Given the description of an element on the screen output the (x, y) to click on. 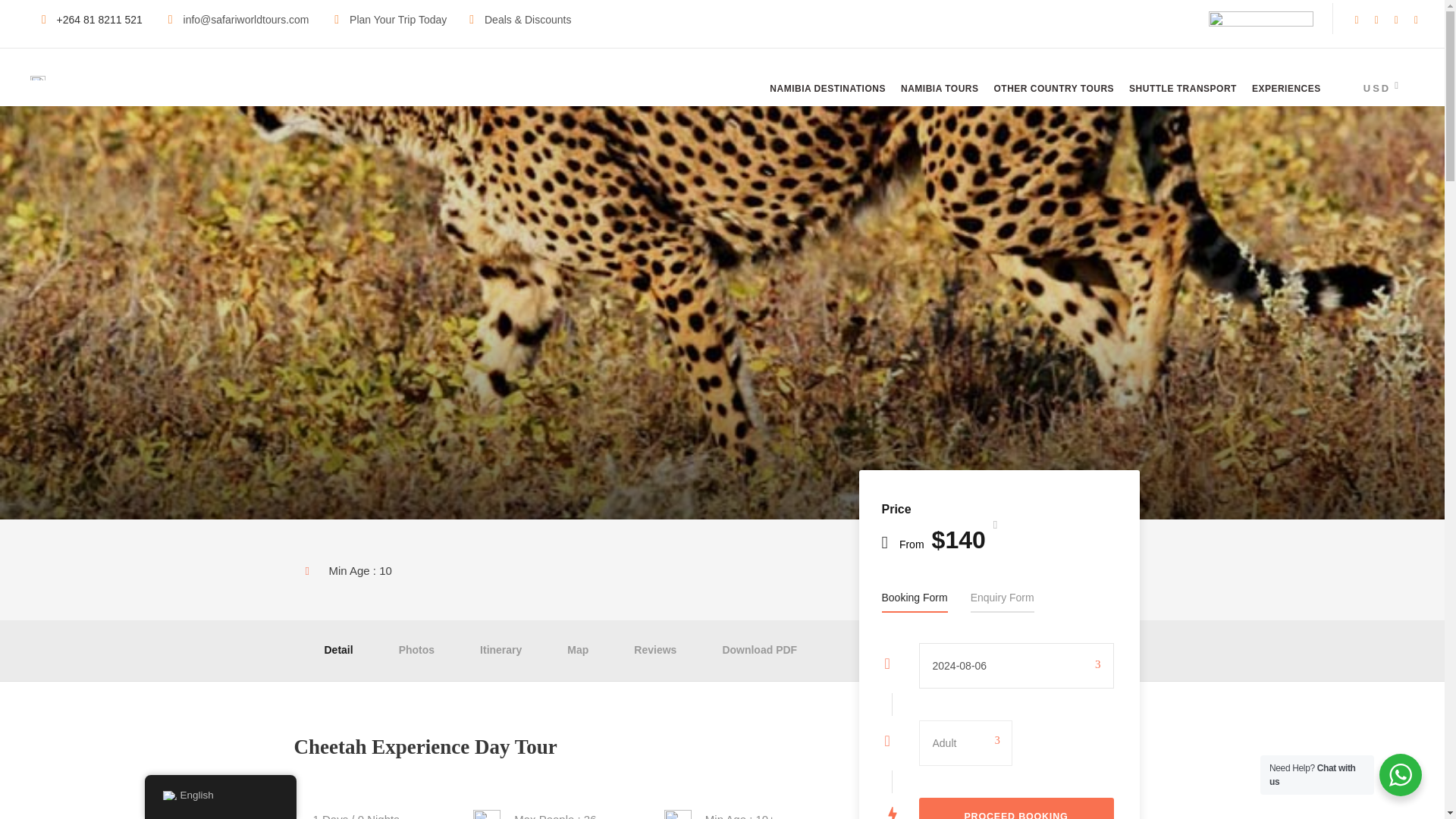
2024-08-06 (1015, 665)
single-icon-4 (677, 814)
safari world tour (37, 78)
Proceed Booking (1015, 808)
single-icon-2 (486, 814)
